Given the description of an element on the screen output the (x, y) to click on. 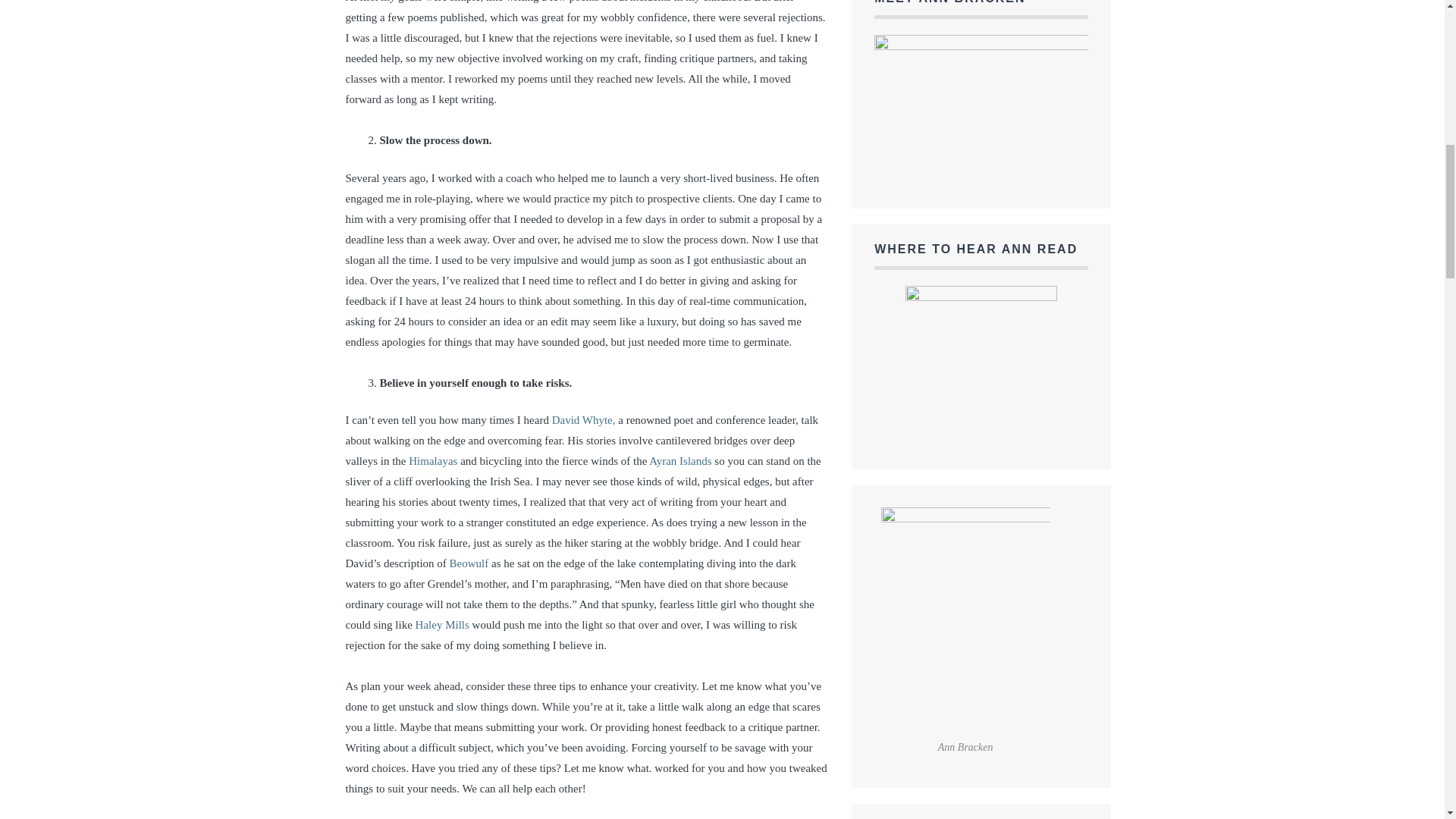
David Whyte, (583, 419)
Himalayas (433, 460)
Beowulf (469, 563)
Haley Mills (441, 624)
Ayran Islands (680, 460)
